Given the description of an element on the screen output the (x, y) to click on. 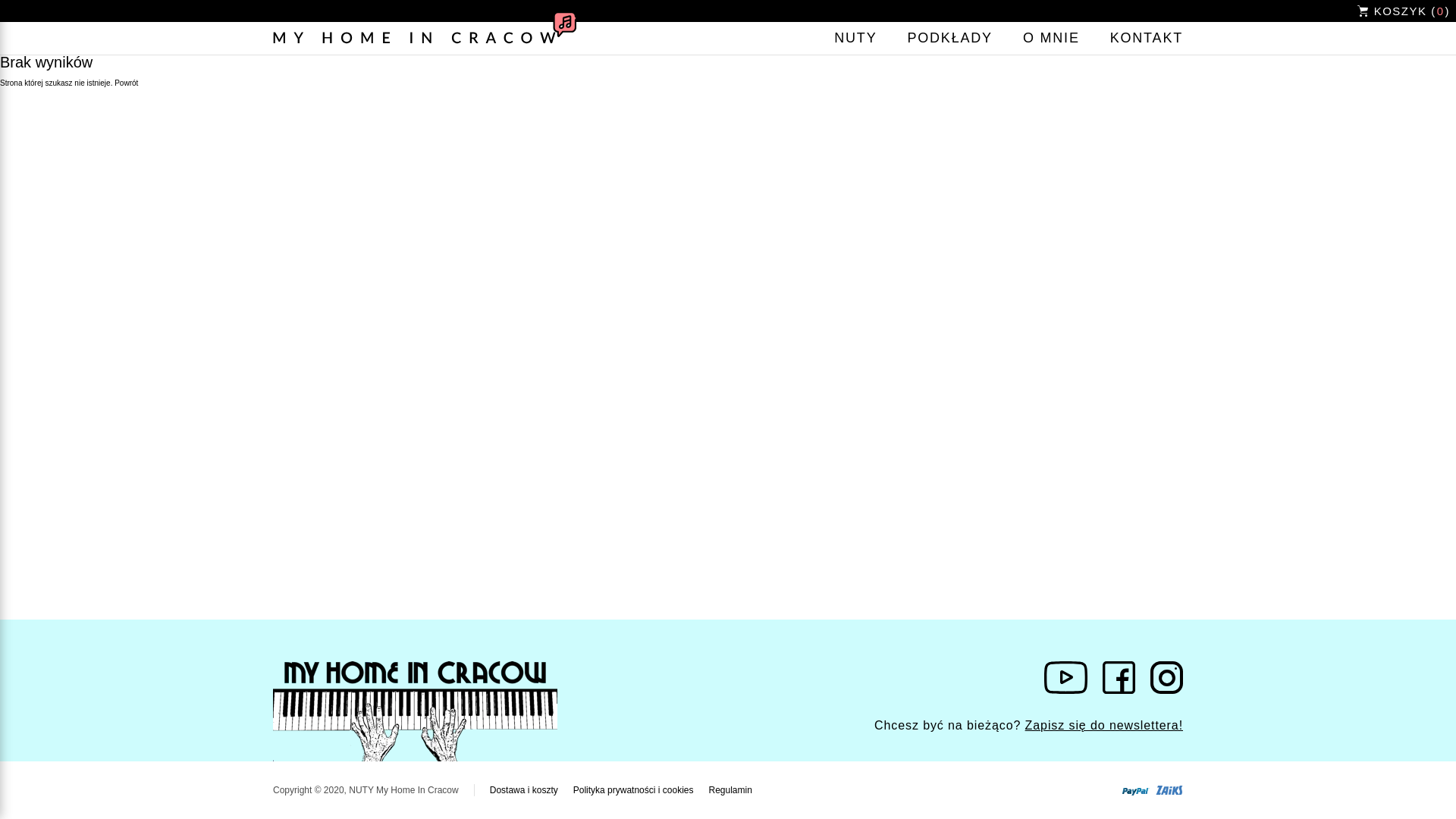
Newsletter (1103, 725)
Dostawa i koszty (523, 789)
Go to facebook account (1118, 678)
KONTAKT (1145, 37)
Go to youtube account (1065, 678)
Regulamin (729, 789)
NUTY My Home In Cracow (424, 38)
NUTY (855, 37)
NUTY My Home In Cracow (415, 710)
Nuty (855, 37)
Go to instagram account (1166, 678)
Dostawa i koszty (523, 789)
O MNIE (1051, 37)
O Mnie (1051, 37)
Kontakt (1145, 37)
